Given the description of an element on the screen output the (x, y) to click on. 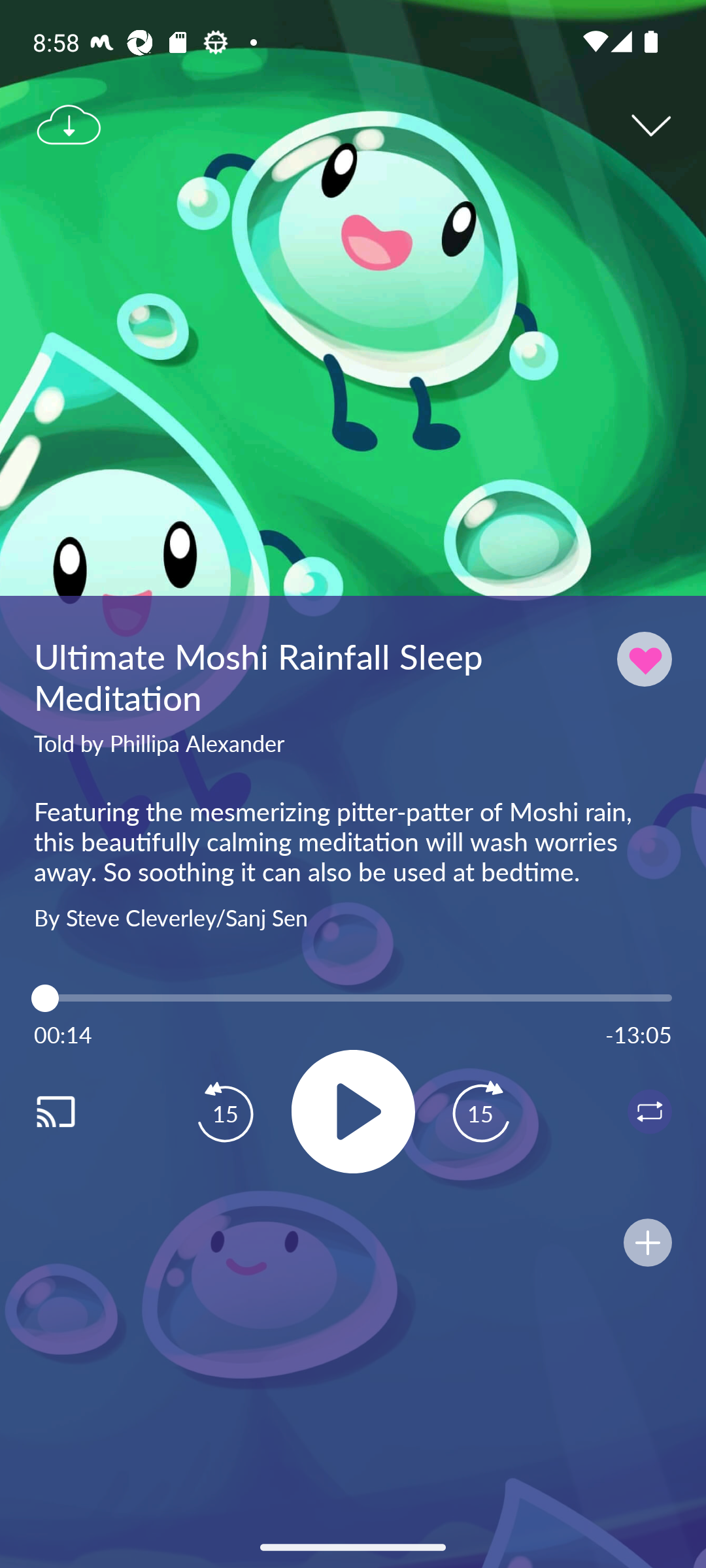
14.0 (352, 997)
Cast. Disconnected (76, 1111)
